Given the description of an element on the screen output the (x, y) to click on. 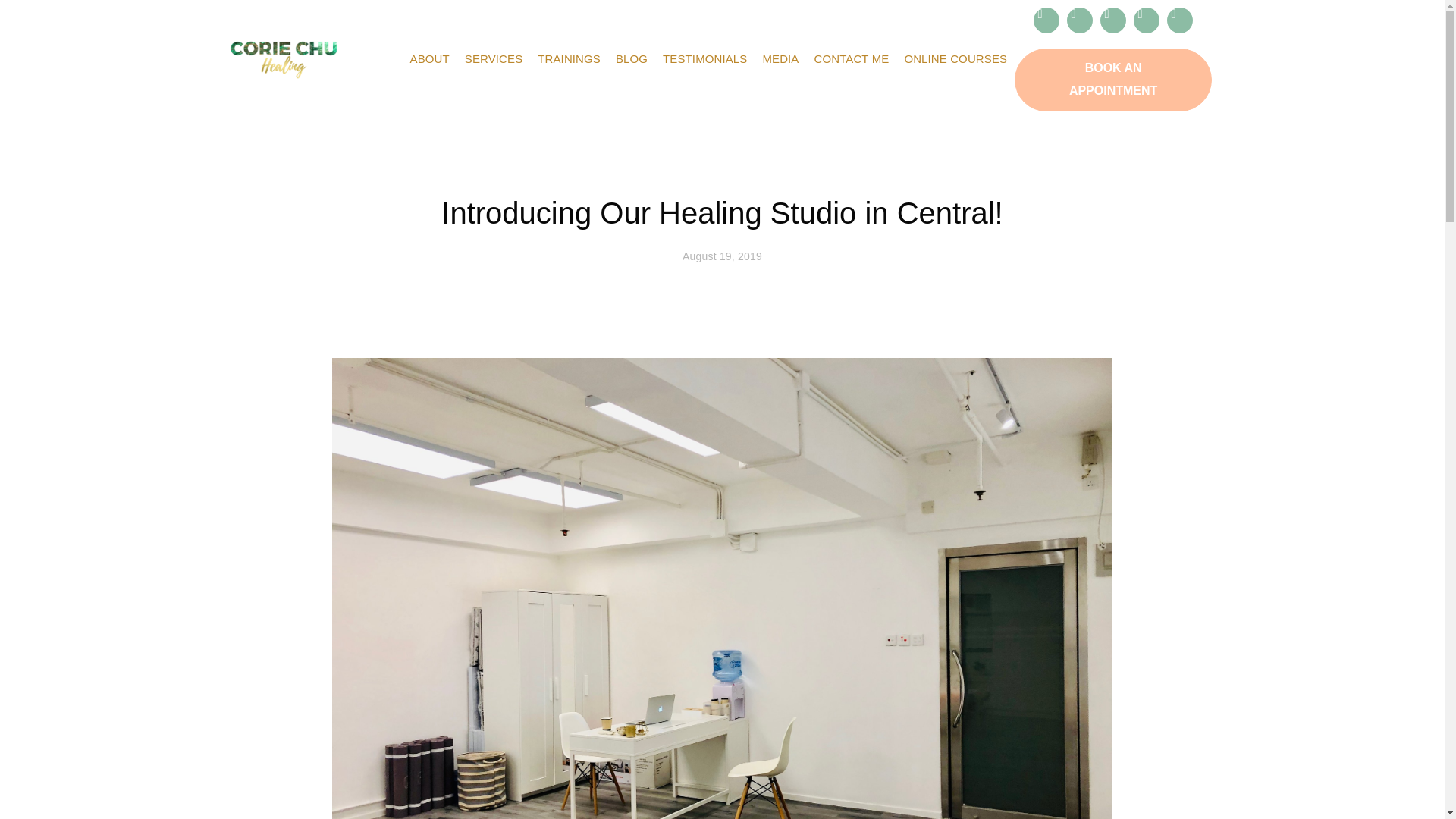
BLOG (631, 59)
ABOUT (430, 59)
ONLINE COURSES (955, 59)
TESTIMONIALS (704, 59)
CONTACT ME (851, 59)
SERVICES (493, 59)
MEDIA (780, 59)
TRAININGS (568, 59)
